Given the description of an element on the screen output the (x, y) to click on. 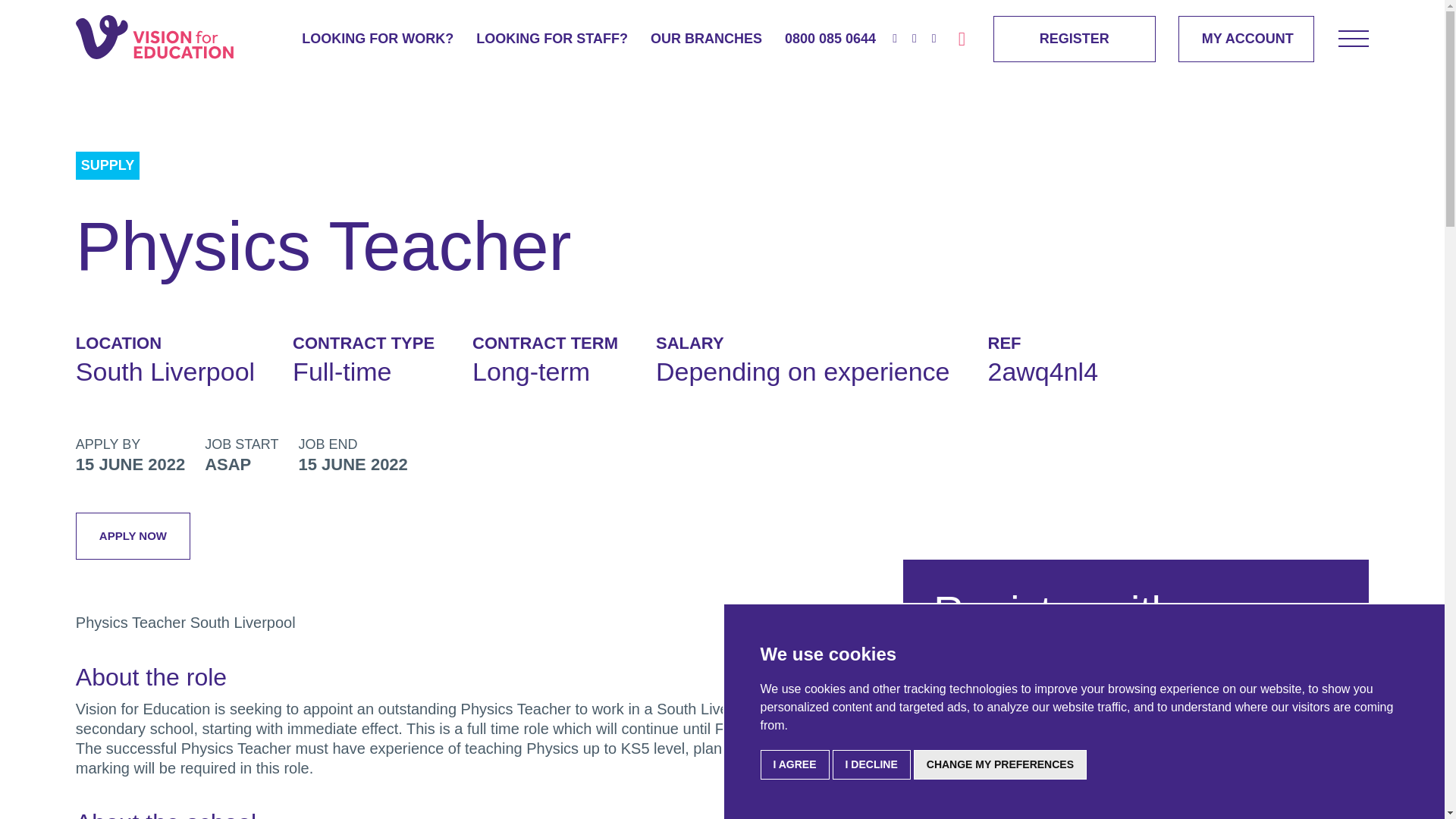
I AGREE (794, 764)
CHANGE MY PREFERENCES (1000, 764)
I DECLINE (871, 764)
